Given the description of an element on the screen output the (x, y) to click on. 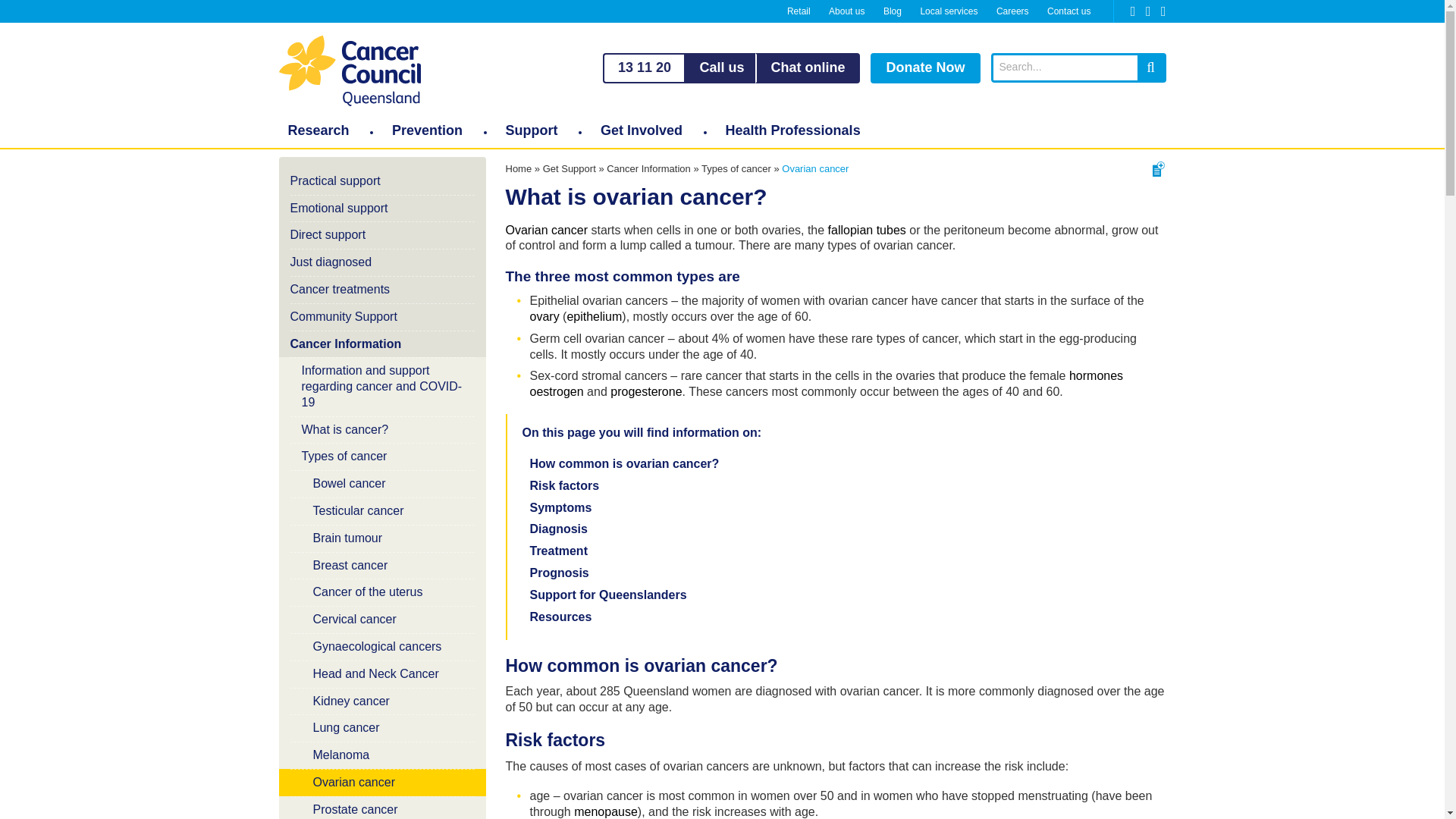
Chat online (807, 67)
13 11 20 (643, 67)
Local services (948, 11)
Call us (721, 67)
Contact us (1068, 11)
Call our 13 11 20 team. (643, 67)
Blog (892, 11)
About us (846, 11)
Chat with our 13 11 20 team. (807, 67)
Research (318, 130)
Careers (1012, 11)
Call our 13 11 20 team. (721, 67)
Prevention (427, 130)
Donate Now (924, 67)
Retail (798, 11)
